Given the description of an element on the screen output the (x, y) to click on. 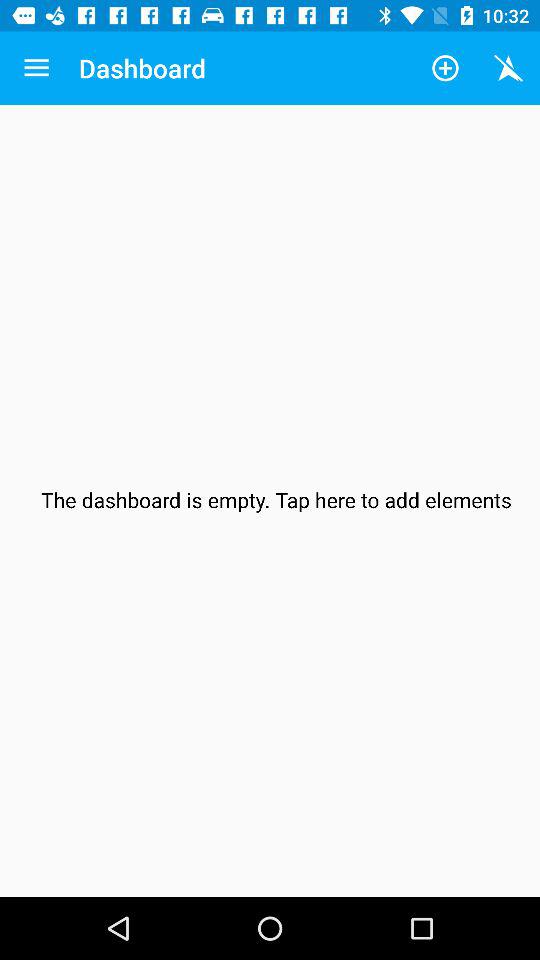
select item next to the dashboard (444, 67)
